Given the description of an element on the screen output the (x, y) to click on. 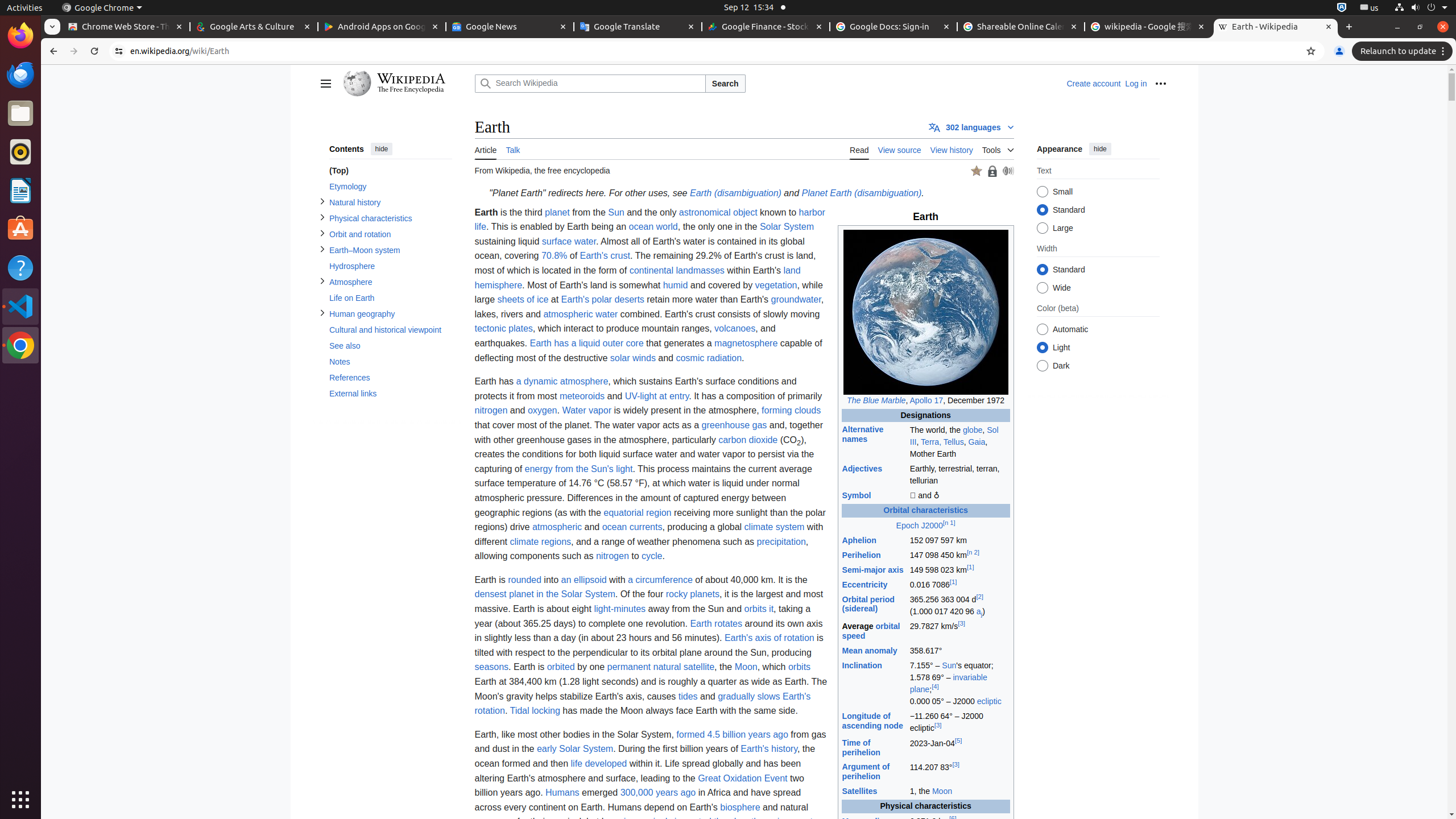
[4] Element type: link (935, 686)
wikipedia - Google 搜索 - Memory usage - 85.9 MB Element type: page-tab (1148, 26)
The world, the globe, Sol III, Terra, Tellus, Gaia, Mother Earth Element type: table-cell (959, 442)
Android Apps on Google Play - Memory usage - 68.6 MB Element type: page-tab (381, 26)
surface water Element type: link (568, 241)
